Given the description of an element on the screen output the (x, y) to click on. 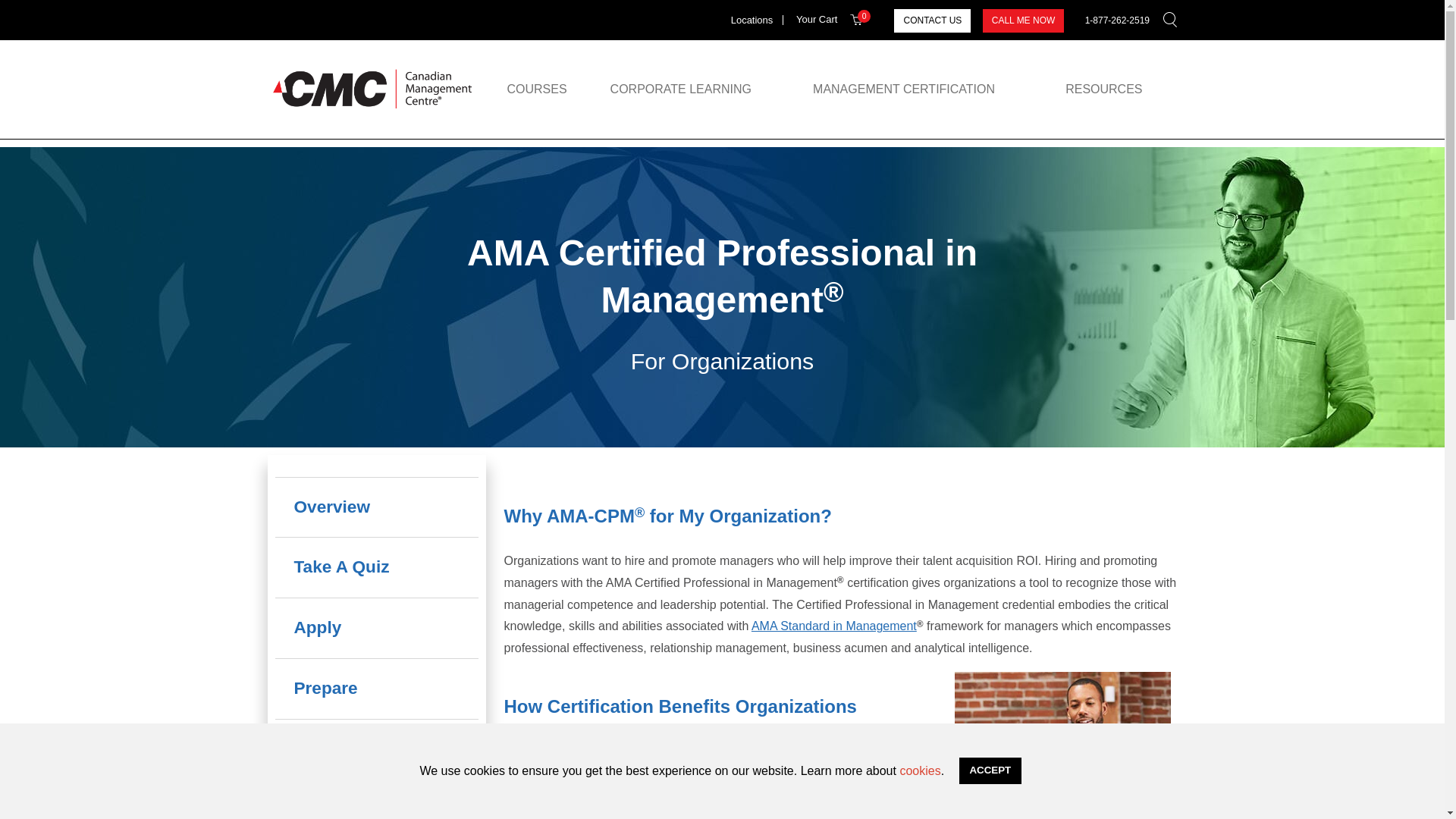
Search (1145, 57)
CONTACT US (932, 20)
search (1168, 19)
Apply (376, 628)
CORPORATE LEARNING (680, 89)
Locations (752, 20)
Get Certified (376, 749)
1-877-262-2519 (1116, 20)
MANAGEMENT CERTIFICATION (903, 89)
Take A Quiz (376, 567)
Prepare (376, 689)
Overview (376, 507)
Maintain (376, 799)
CALL ME NOW (1023, 20)
